Given the description of an element on the screen output the (x, y) to click on. 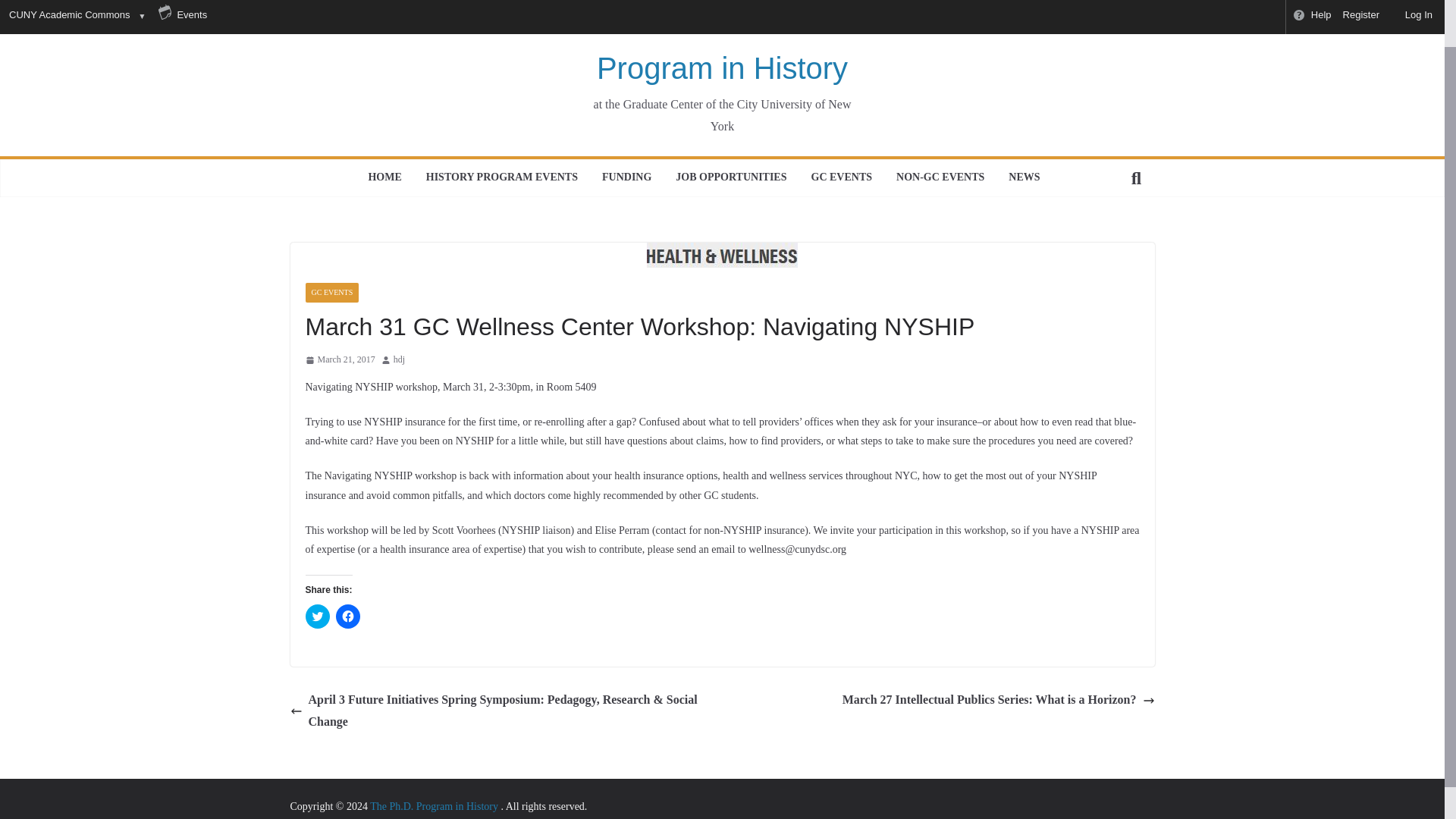
The Ph.D. Program in History (434, 806)
March 21, 2017 (339, 360)
Click to share on Facebook (346, 616)
The Ph.D. Program in History  (434, 806)
NON-GC EVENTS (940, 178)
Click to share on Twitter (316, 616)
HOME (384, 178)
FUNDING (626, 178)
GC EVENTS (331, 292)
The Ph.D. Program in History  (721, 45)
